Given the description of an element on the screen output the (x, y) to click on. 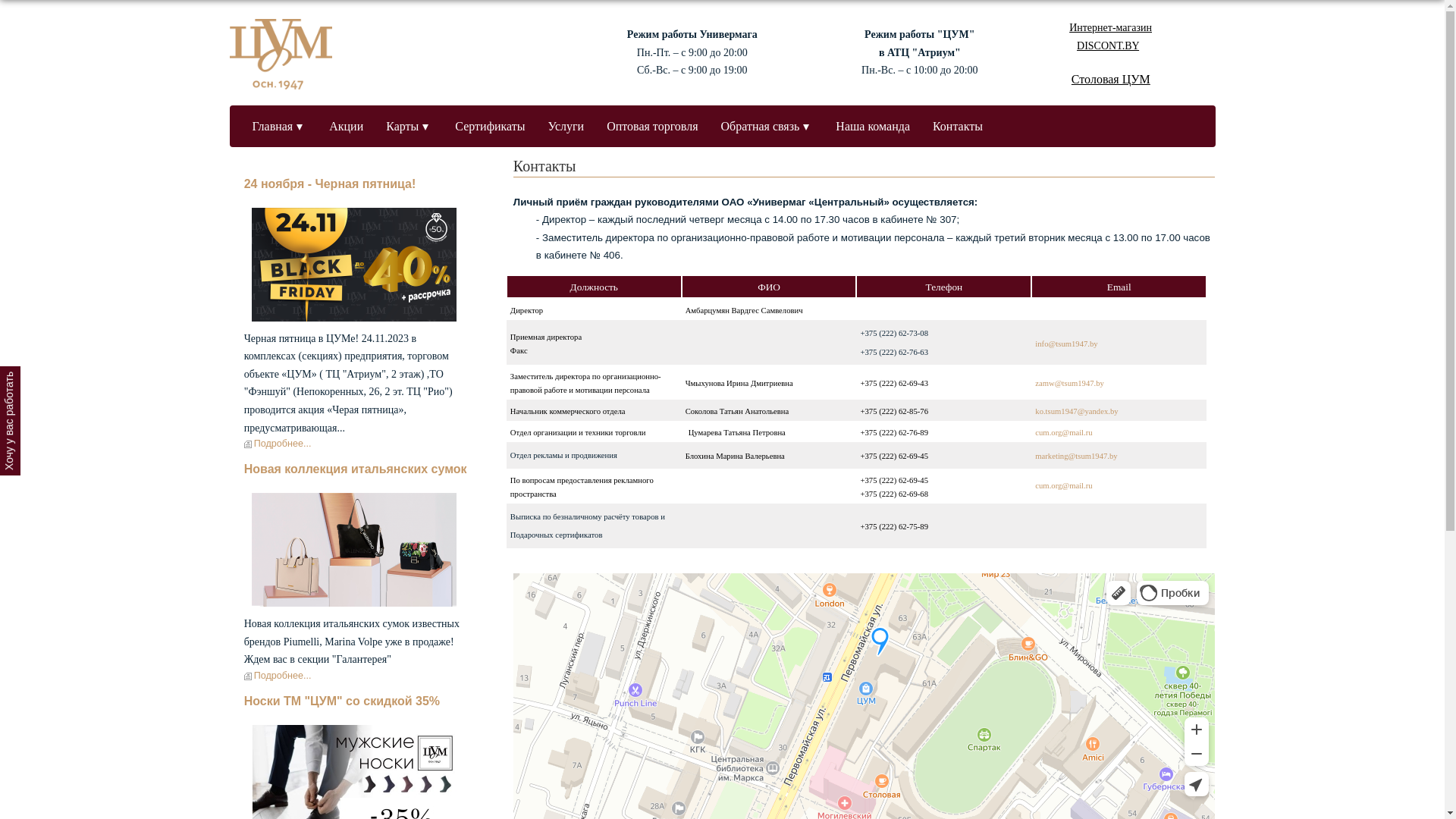
cum.org@mail.ru Element type: text (1063, 489)
info@tsum1947.by Element type: text (1066, 347)
marketing@tsum1947.by Element type: text (1076, 459)
cum.org@mail.ru Element type: text (1063, 436)
ko.tsum1947@yandex.by Element type: text (1076, 415)
zamw@tsum1947.by Element type: text (1069, 387)
